Given the description of an element on the screen output the (x, y) to click on. 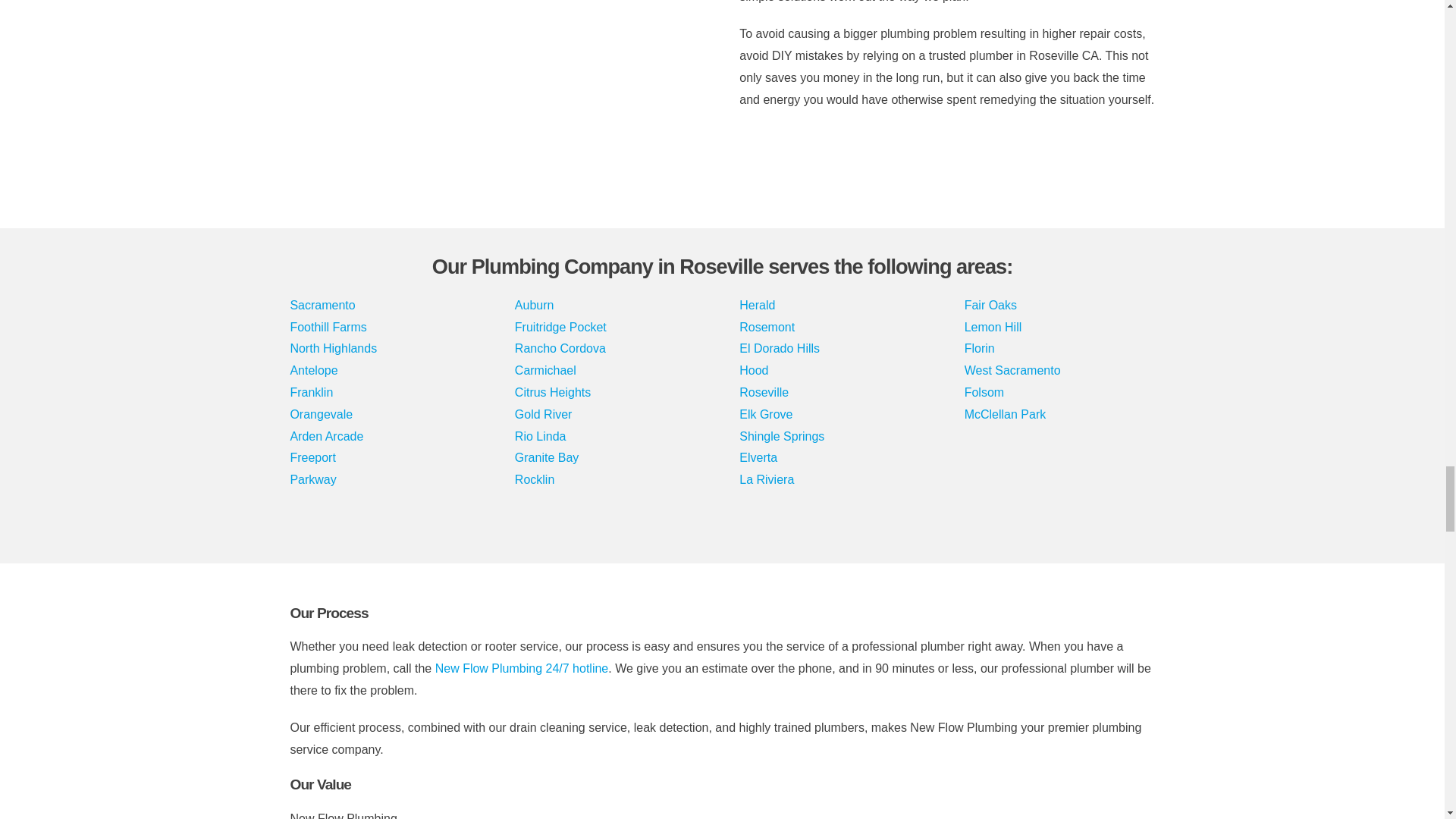
Drainage Services (496, 85)
